Given the description of an element on the screen output the (x, y) to click on. 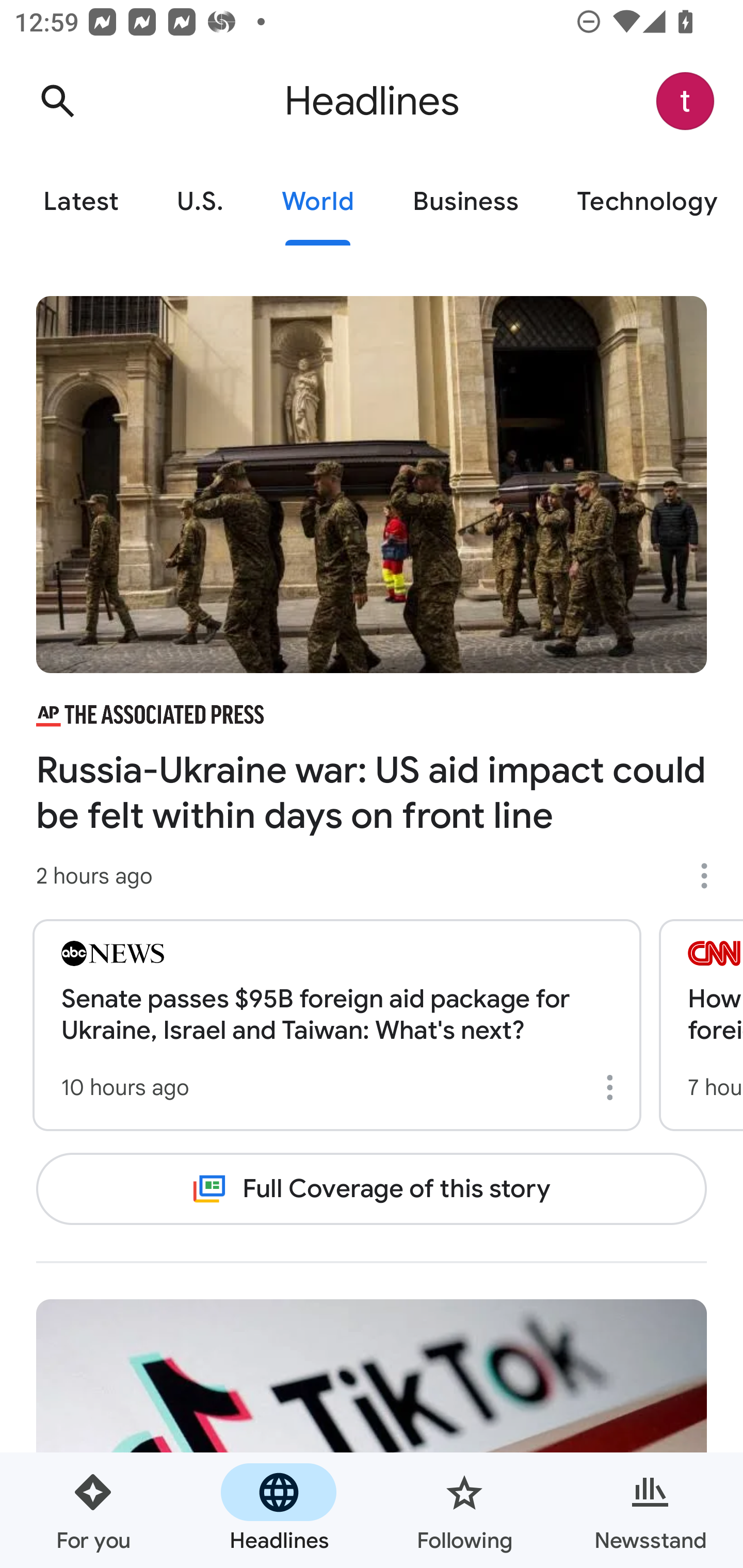
Search (57, 100)
Latest (80, 202)
U.S. (199, 202)
Business (465, 202)
Technology (645, 202)
More options (711, 875)
More options (613, 1086)
Full Coverage of this story (371, 1188)
For you (92, 1509)
Headlines (278, 1509)
Following (464, 1509)
Newsstand (650, 1509)
